Given the description of an element on the screen output the (x, y) to click on. 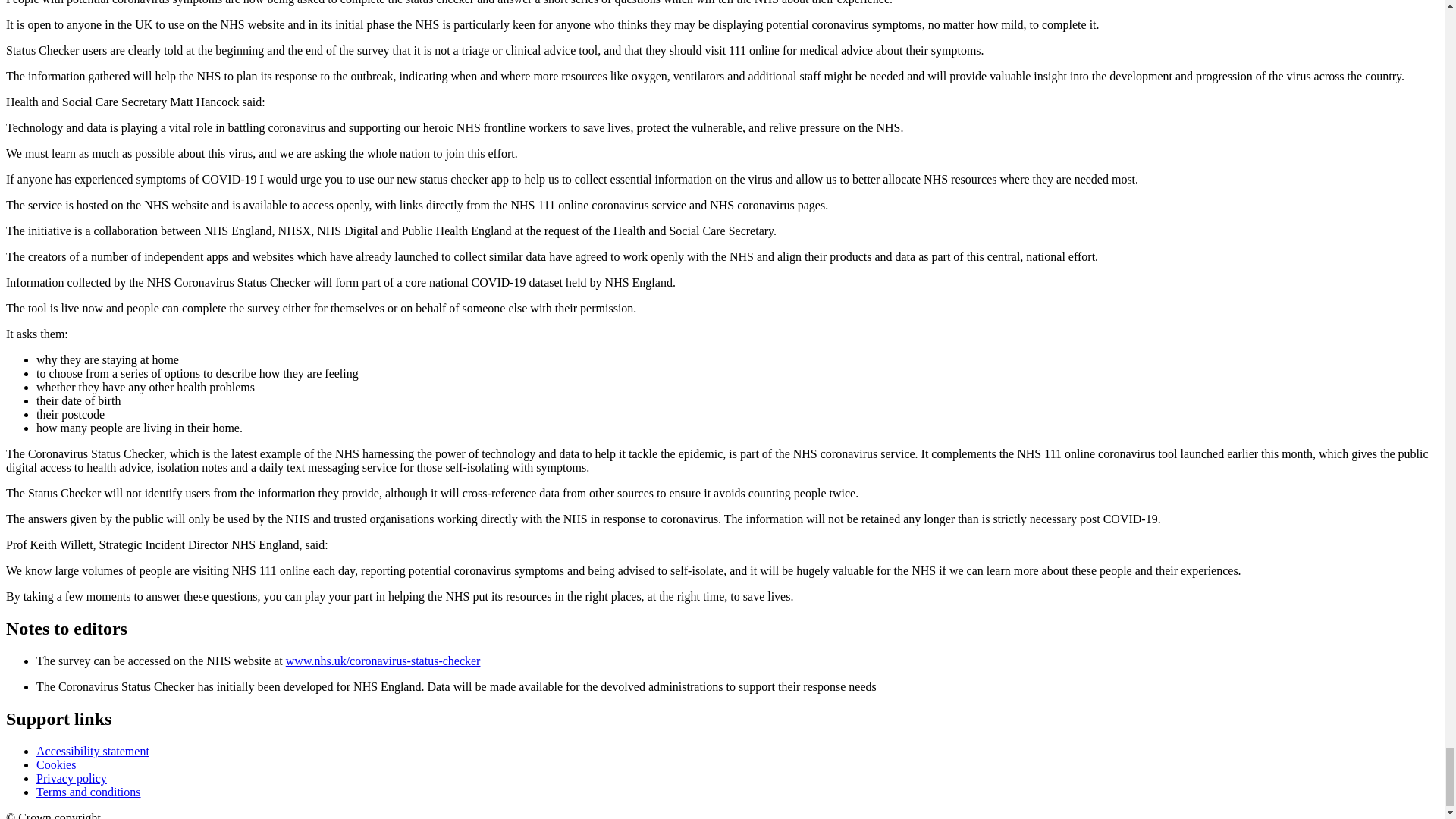
Terms and conditions (88, 791)
Cookies (55, 764)
Accessibility statement (92, 750)
Privacy policy (71, 778)
